Given the description of an element on the screen output the (x, y) to click on. 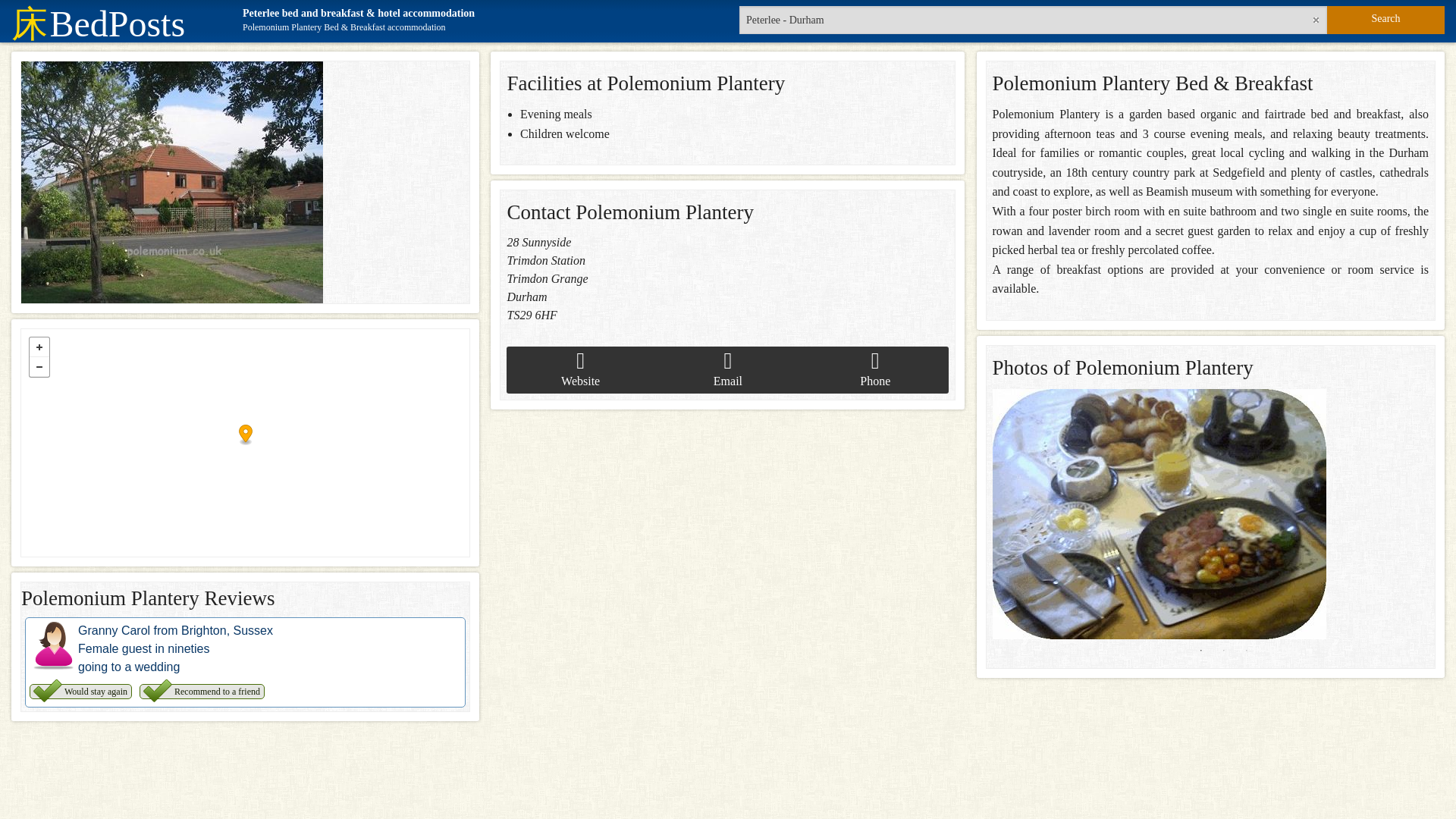
Phone (875, 369)
Zoom out (39, 366)
Search (1385, 19)
3 (1246, 650)
Next (1439, 513)
2 (1223, 650)
1 (1200, 650)
Email (727, 369)
- (39, 366)
Peterlee - Durham (1032, 19)
